Given the description of an element on the screen output the (x, y) to click on. 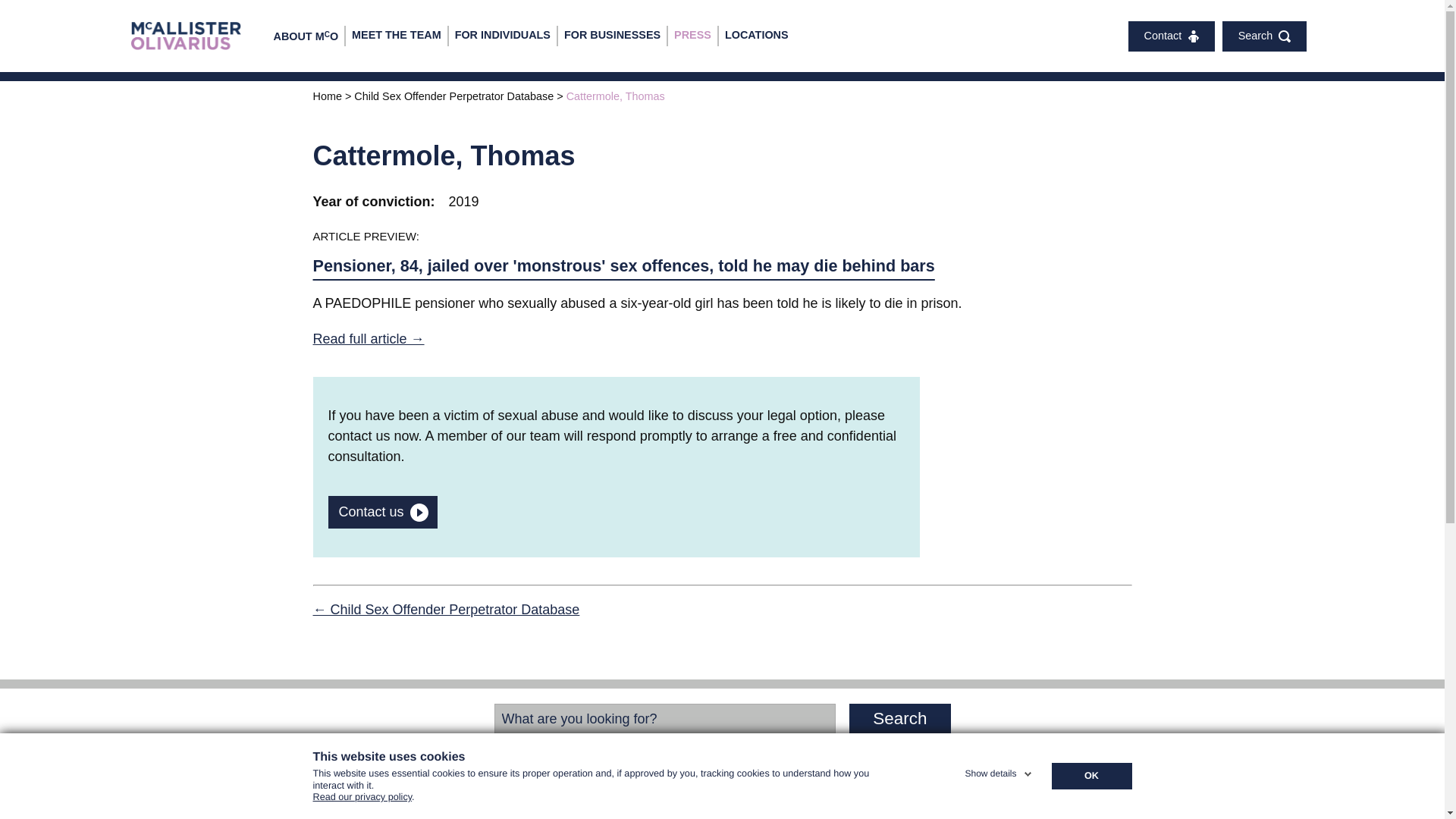
Read our privacy policy (362, 802)
Show details (998, 770)
OK (1091, 776)
Search (899, 718)
